Given the description of an element on the screen output the (x, y) to click on. 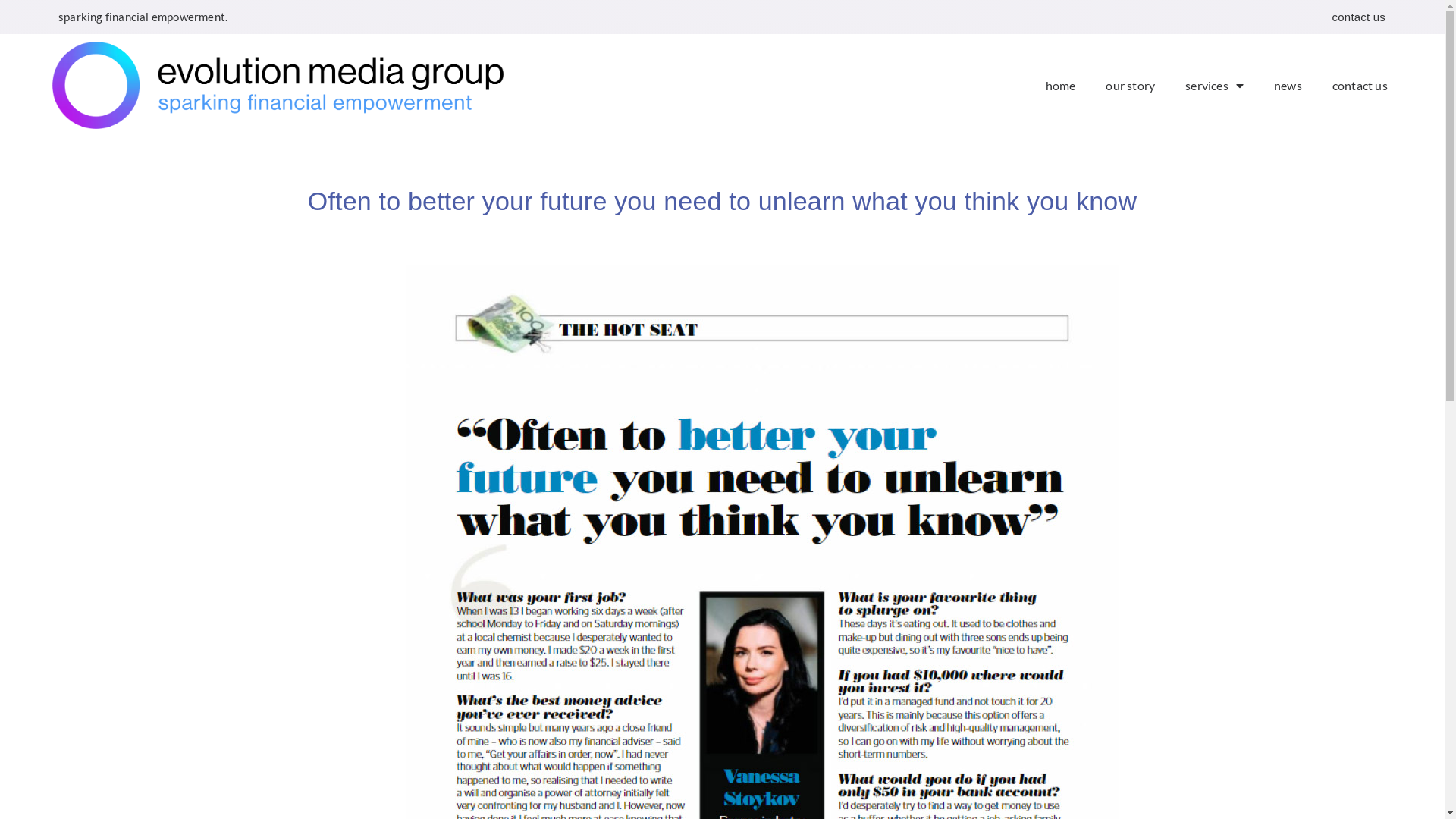
FA_LOGO_EMG_TAGLINE_RGB Element type: hover (277, 84)
our story Element type: text (1130, 85)
services Element type: text (1214, 85)
contact us Element type: text (1359, 85)
news Element type: text (1287, 85)
home Element type: text (1059, 85)
contact us Element type: text (1358, 16)
